Given the description of an element on the screen output the (x, y) to click on. 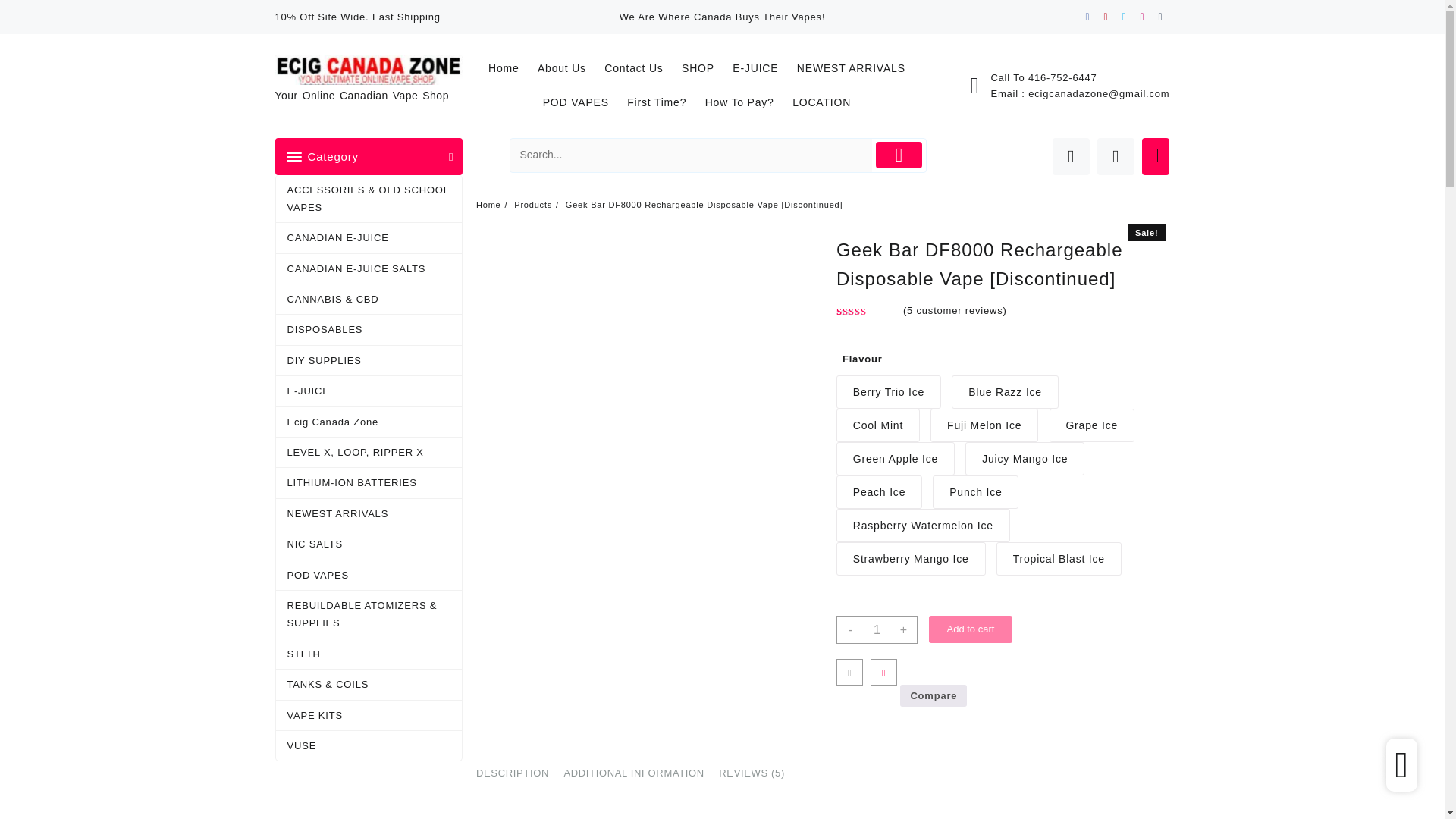
First Time? (664, 102)
How To Pay? (746, 102)
Blue Razz Ice (1005, 391)
Punch Ice (975, 491)
About Us (569, 68)
Fuji Melon Ice (984, 425)
Green Apple Ice (895, 458)
Home (510, 68)
LOCATION (829, 102)
Search (691, 155)
Raspberry Watermelon Ice (922, 525)
Peach Ice (878, 491)
Grape Ice (1091, 425)
Cool Mint (877, 425)
Juicy Mango Ice (1024, 458)
